Given the description of an element on the screen output the (x, y) to click on. 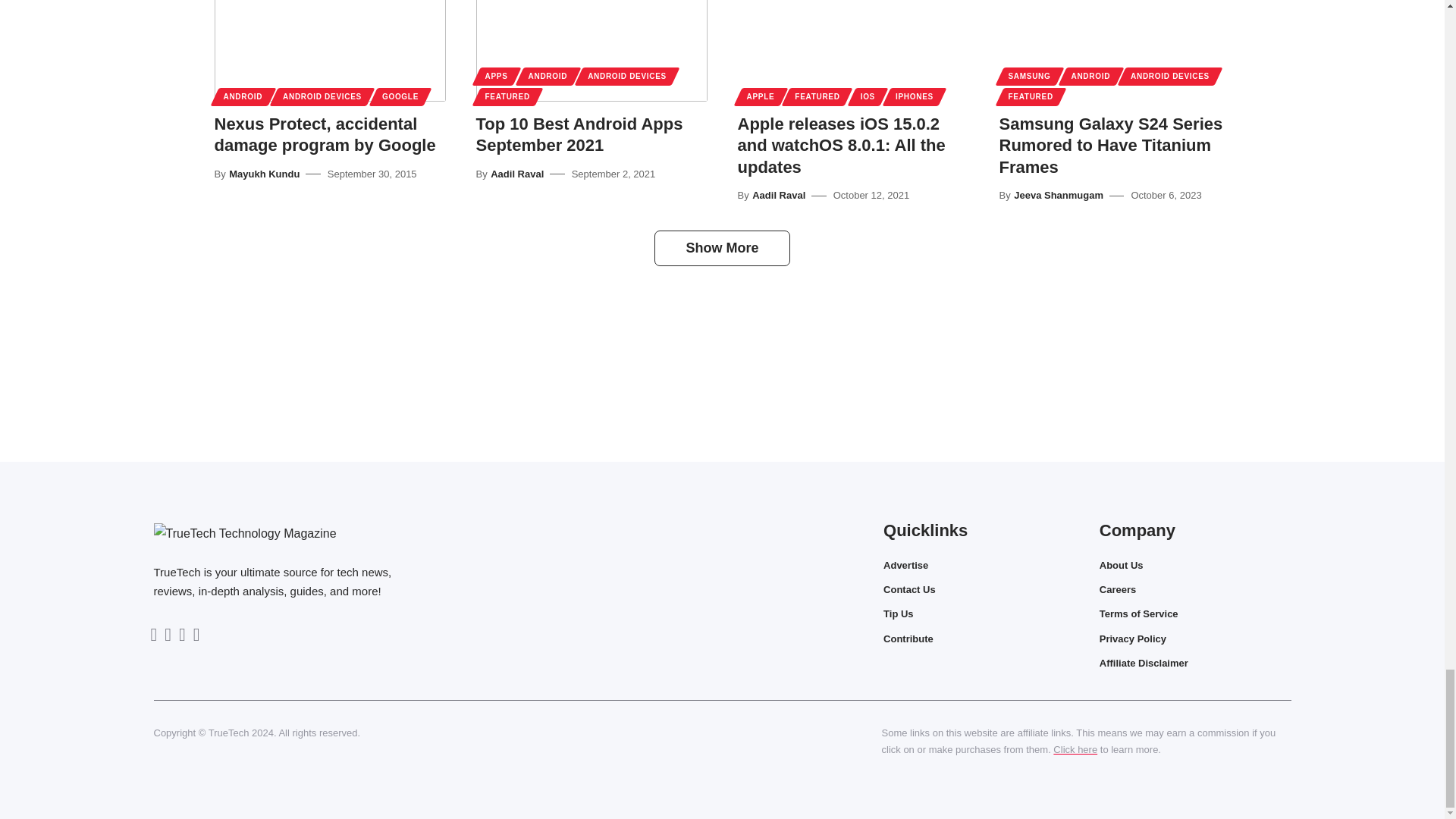
Top 10 Best Android Apps September 2021 (591, 50)
Apple releases iOS 15.0.2 and watchOS 8.0.1: All the updates (852, 50)
Samsung Galaxy S24 Series Rumored to Have Titanium Frames (1114, 50)
Nexus Protect, accidental damage program by Google (329, 50)
